Given the description of an element on the screen output the (x, y) to click on. 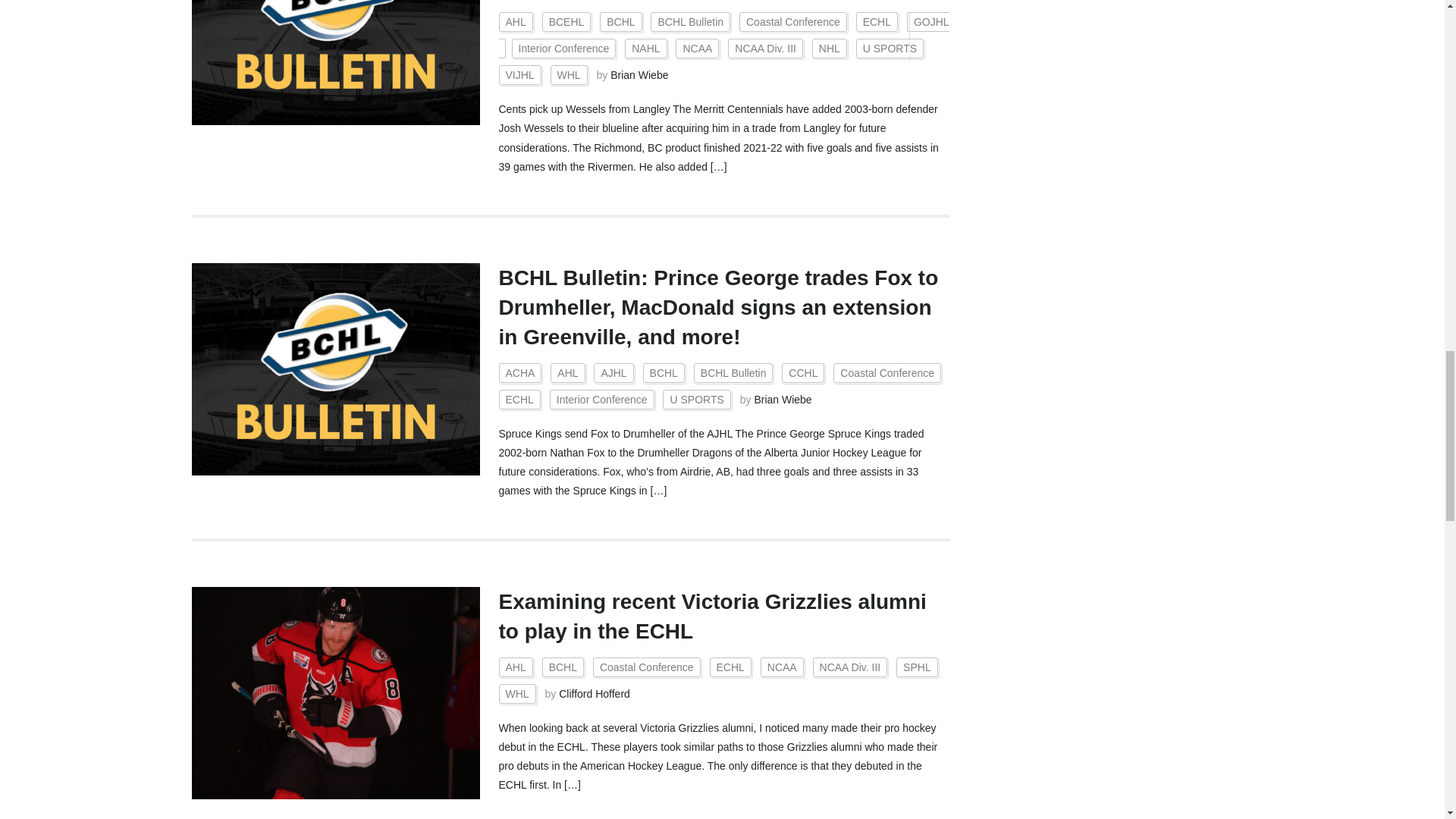
Posts by Brian Wiebe (782, 399)
Posts by Brian Wiebe (639, 74)
Posts by Clifford Hofferd (594, 693)
